Given the description of an element on the screen output the (x, y) to click on. 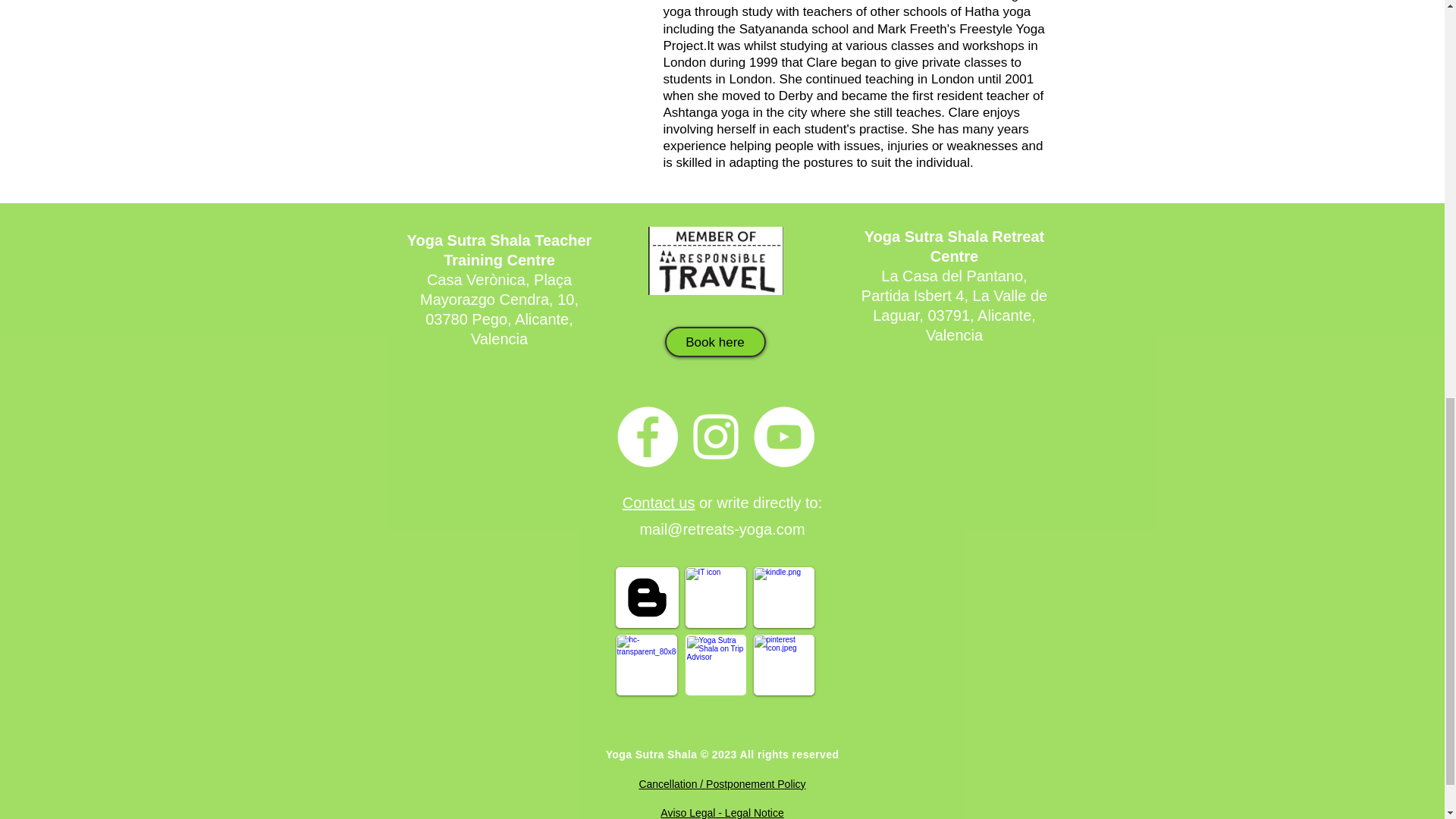
Book here (714, 341)
Contact us (659, 502)
 or write directly to: (758, 502)
Read our Blog (646, 597)
